Given the description of an element on the screen output the (x, y) to click on. 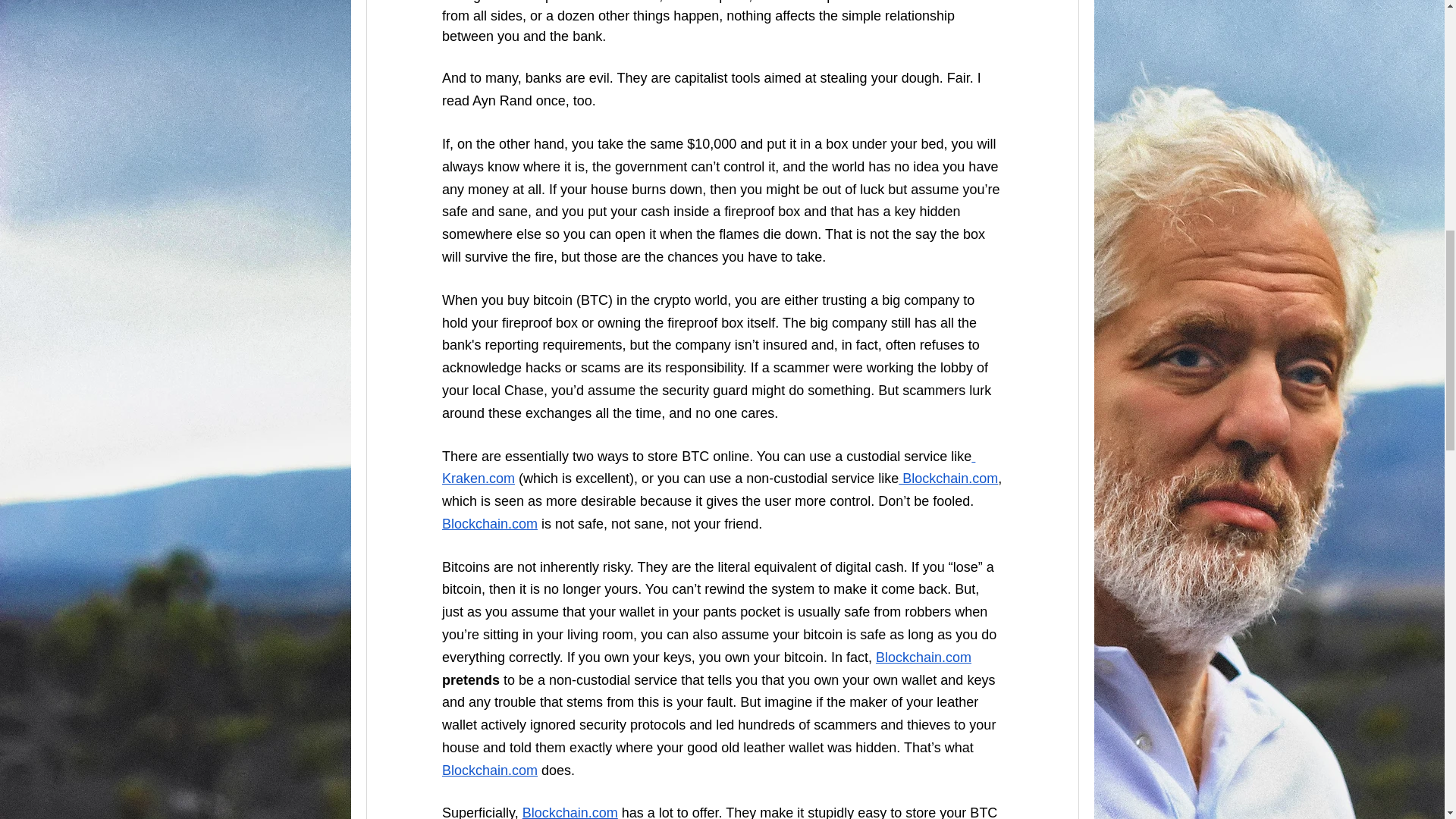
Blockchain.com (569, 812)
Blockchain.com (489, 523)
Blockchain.com (923, 657)
Blockchain.com (489, 770)
 Blockchain.com (947, 478)
 Kraken.com (707, 467)
